Given the description of an element on the screen output the (x, y) to click on. 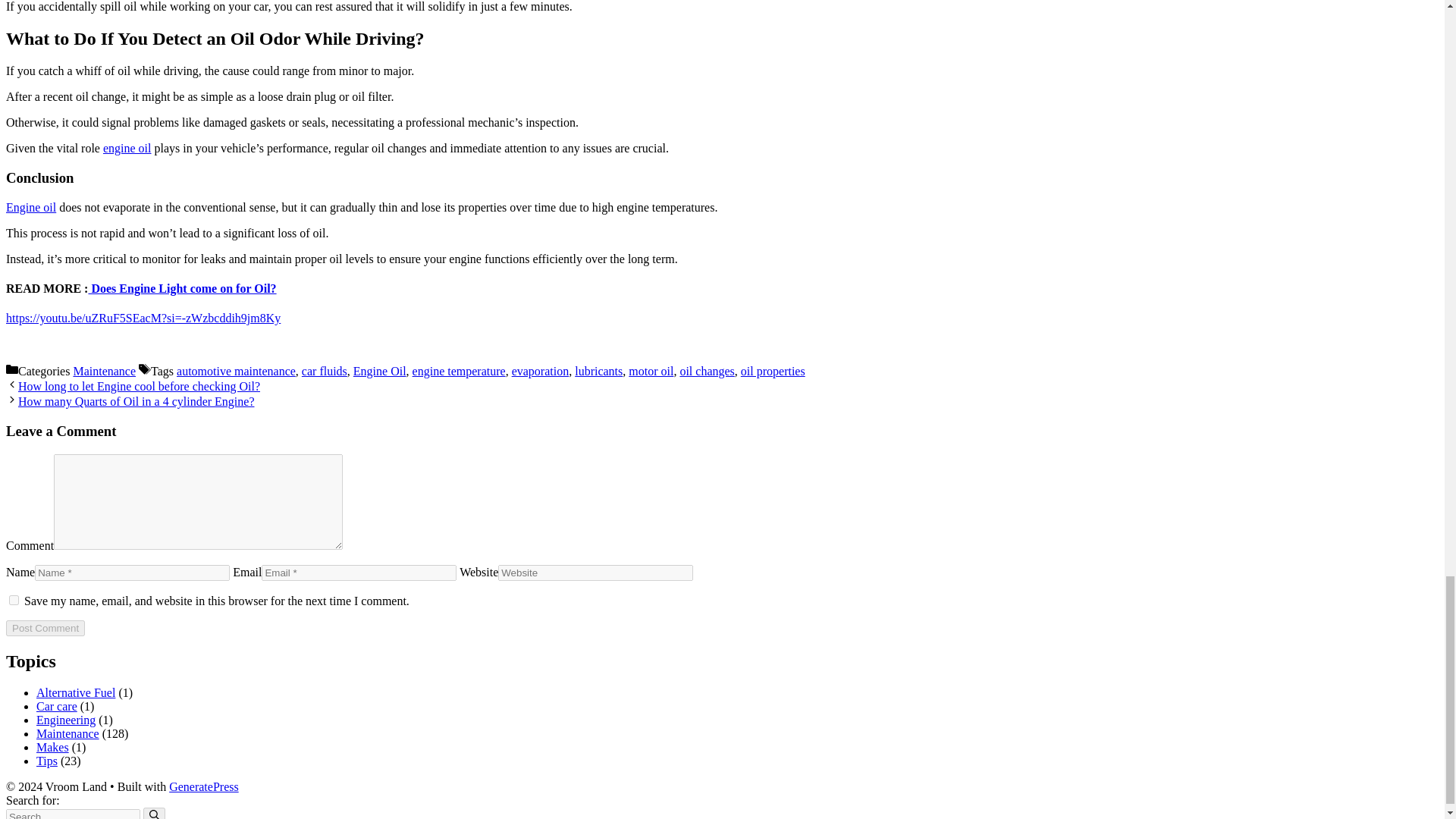
Play video "Why Do Engines Lose Oil?" (143, 318)
oil properties (773, 370)
automotive maintenance (235, 370)
Does Engine Light come on for Oil? (181, 287)
Post Comment (44, 627)
oil changes (706, 370)
evaporation (540, 370)
car fluids (324, 370)
Engine oil (30, 206)
engine oil (127, 147)
Maintenance (103, 370)
lubricants (599, 370)
How long to let Engine cool before checking Oil? (138, 386)
Engine Oil (379, 370)
engine temperature (458, 370)
